Given the description of an element on the screen output the (x, y) to click on. 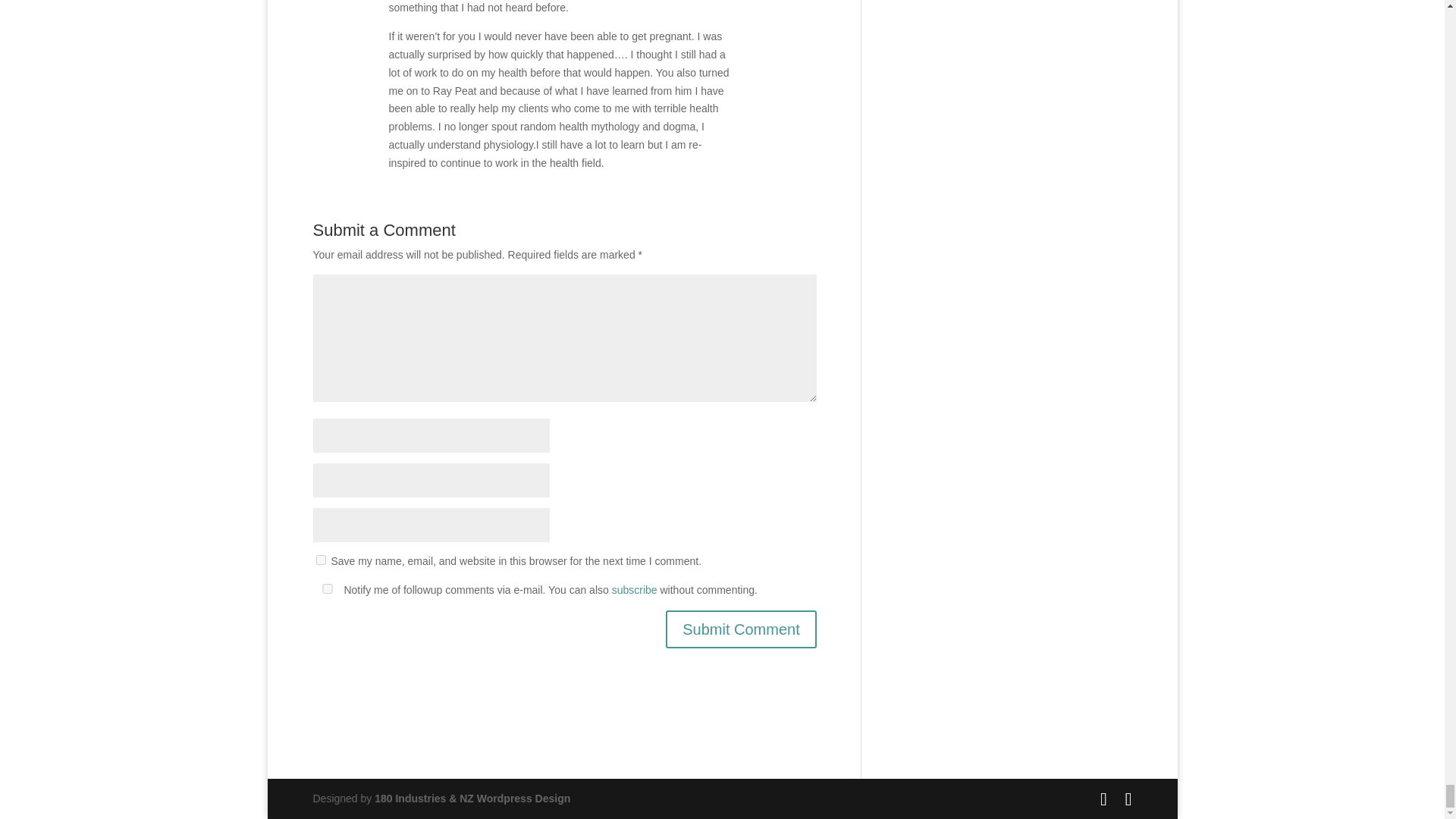
yes (319, 560)
Submit Comment (740, 629)
NZ Wordpress Design (472, 798)
yes (326, 588)
